Given the description of an element on the screen output the (x, y) to click on. 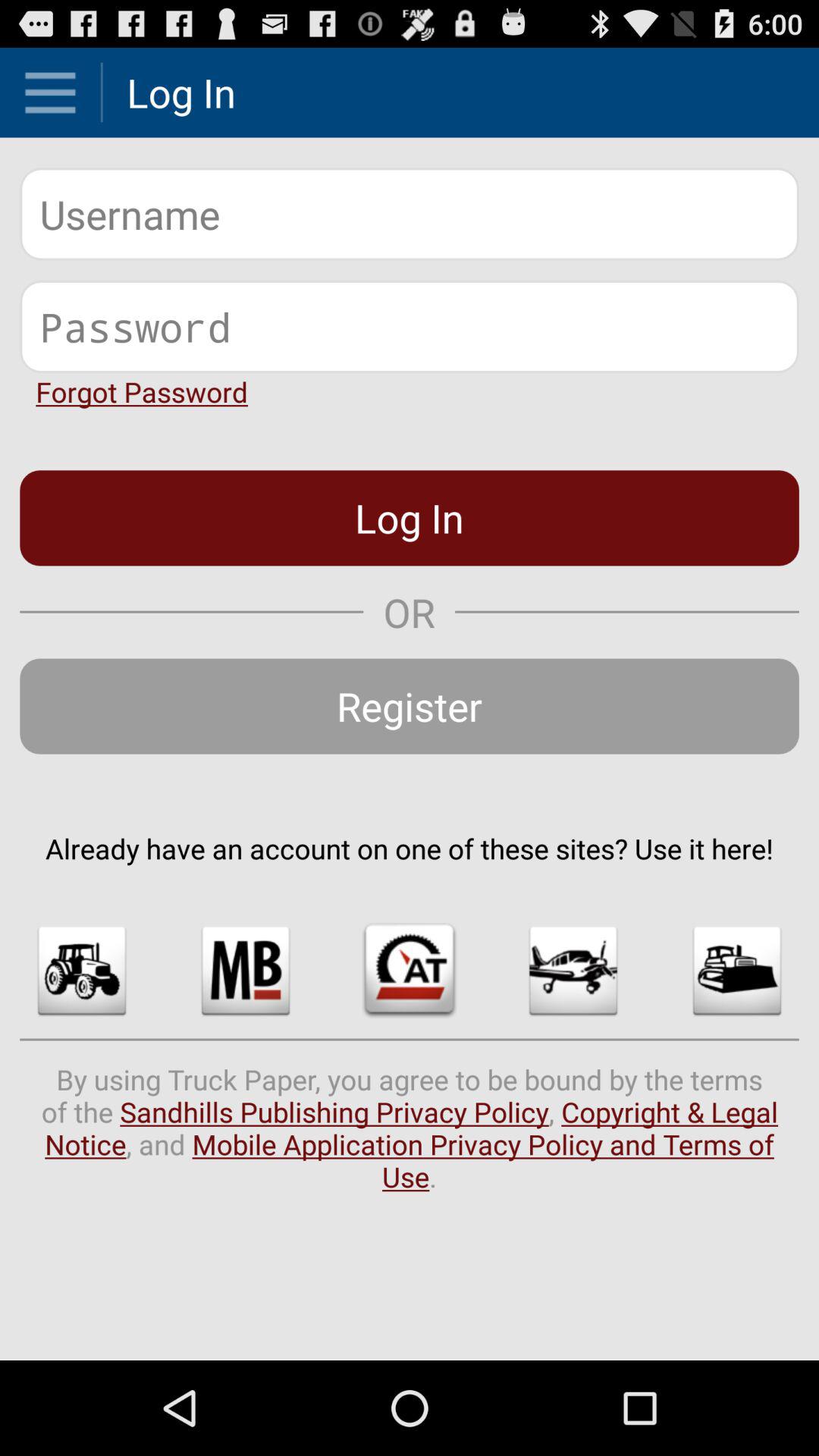
scroll until the by using truck (409, 1127)
